Given the description of an element on the screen output the (x, y) to click on. 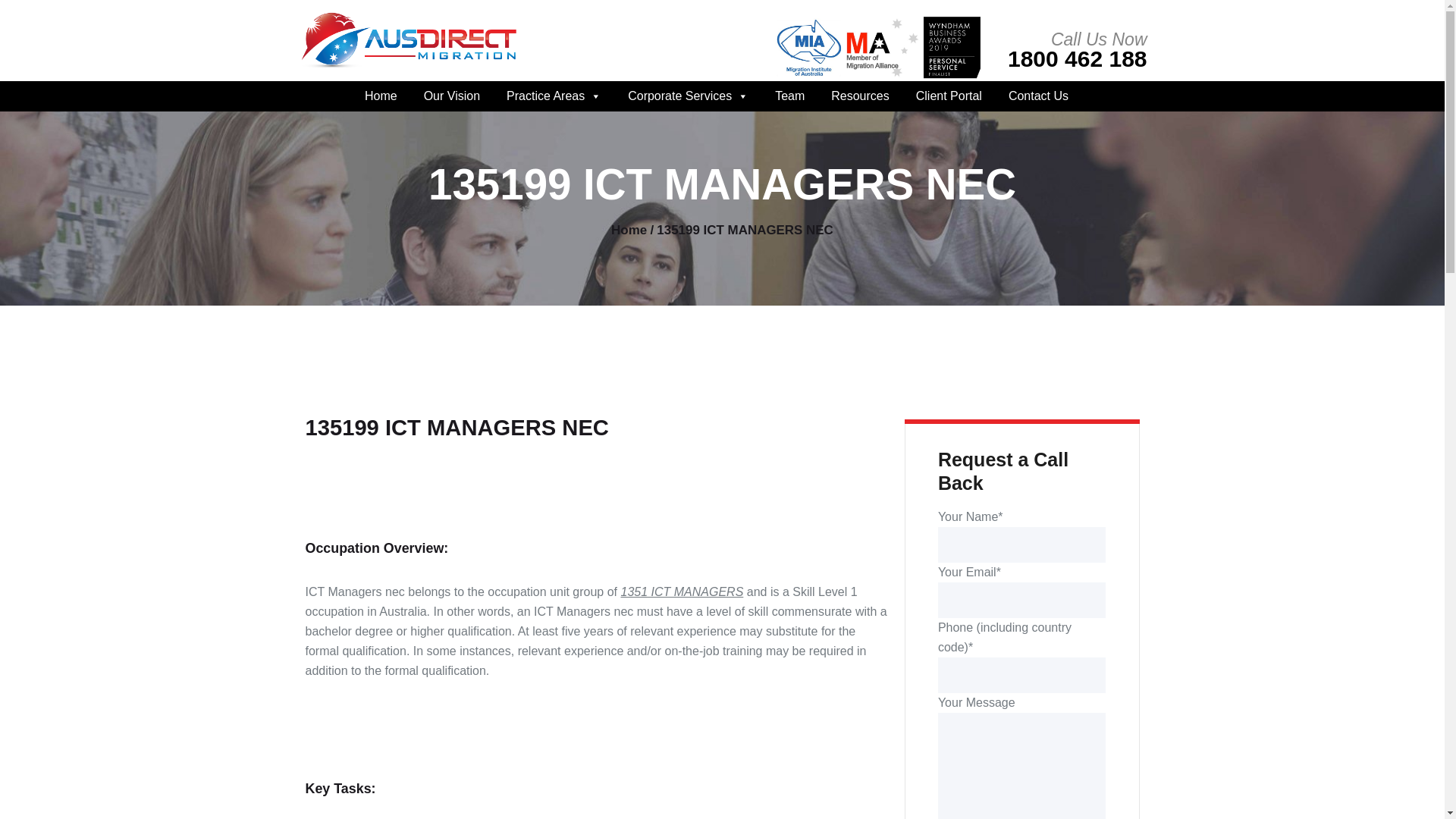
1800 462 188 (1077, 58)
Home (380, 96)
Practice Areas (553, 96)
Our Vision (451, 96)
